Given the description of an element on the screen output the (x, y) to click on. 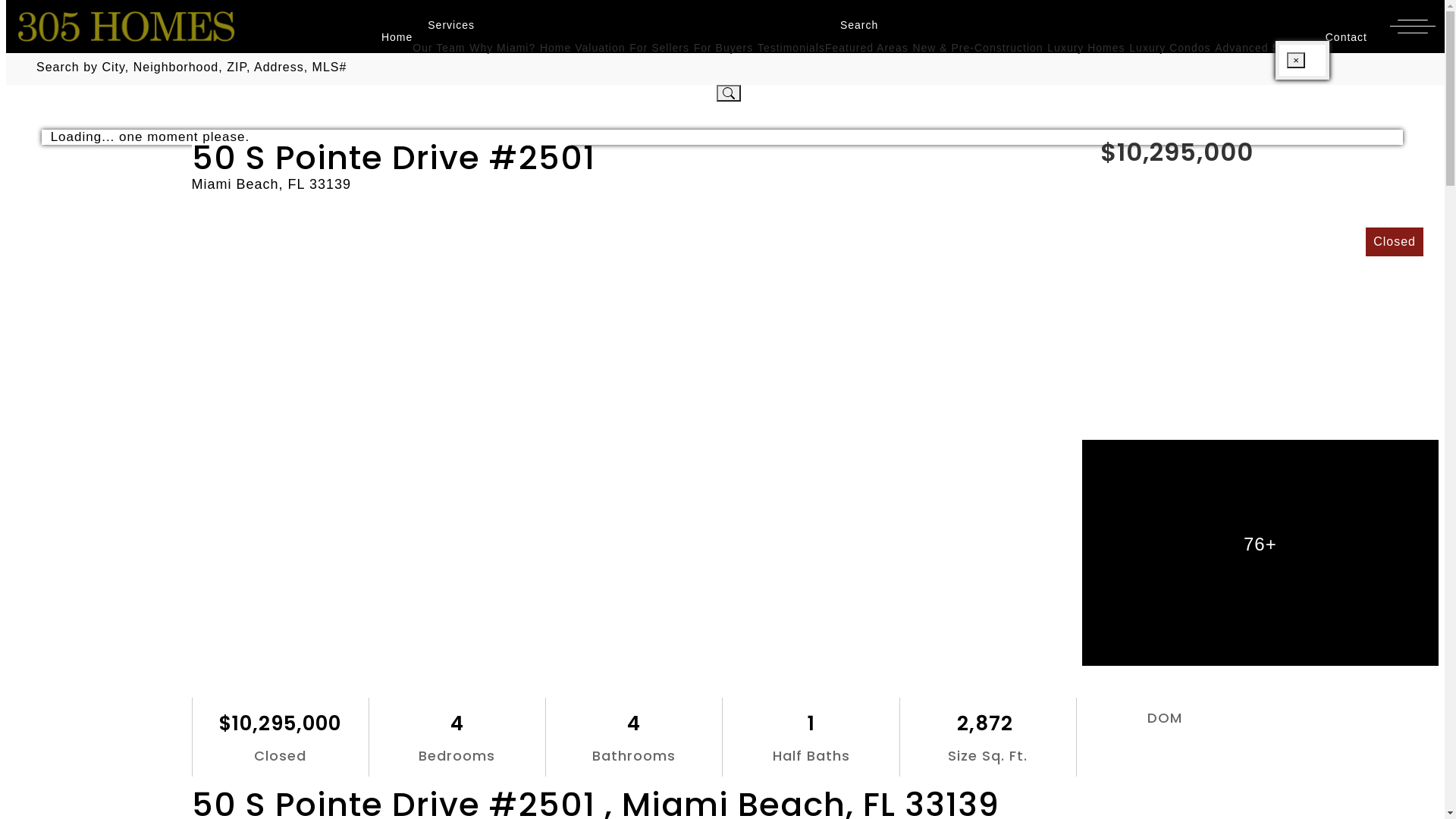
Home Element type: text (389, 37)
Testimonials Element type: text (791, 47)
Home Valuation Element type: text (582, 47)
Advanced Search Element type: text (1262, 47)
For Sellers Element type: text (659, 47)
Featured Areas Element type: text (866, 47)
Services Element type: text (443, 24)
Our Team Element type: text (438, 47)
For Buyers Element type: text (723, 47)
Search Element type: text (851, 24)
Contact Element type: text (1338, 37)
Luxury Condos Element type: text (1169, 47)
New & Pre-Construction Element type: text (977, 47)
Luxury Homes Element type: text (1085, 47)
Why Miami? Element type: text (502, 47)
